Given the description of an element on the screen output the (x, y) to click on. 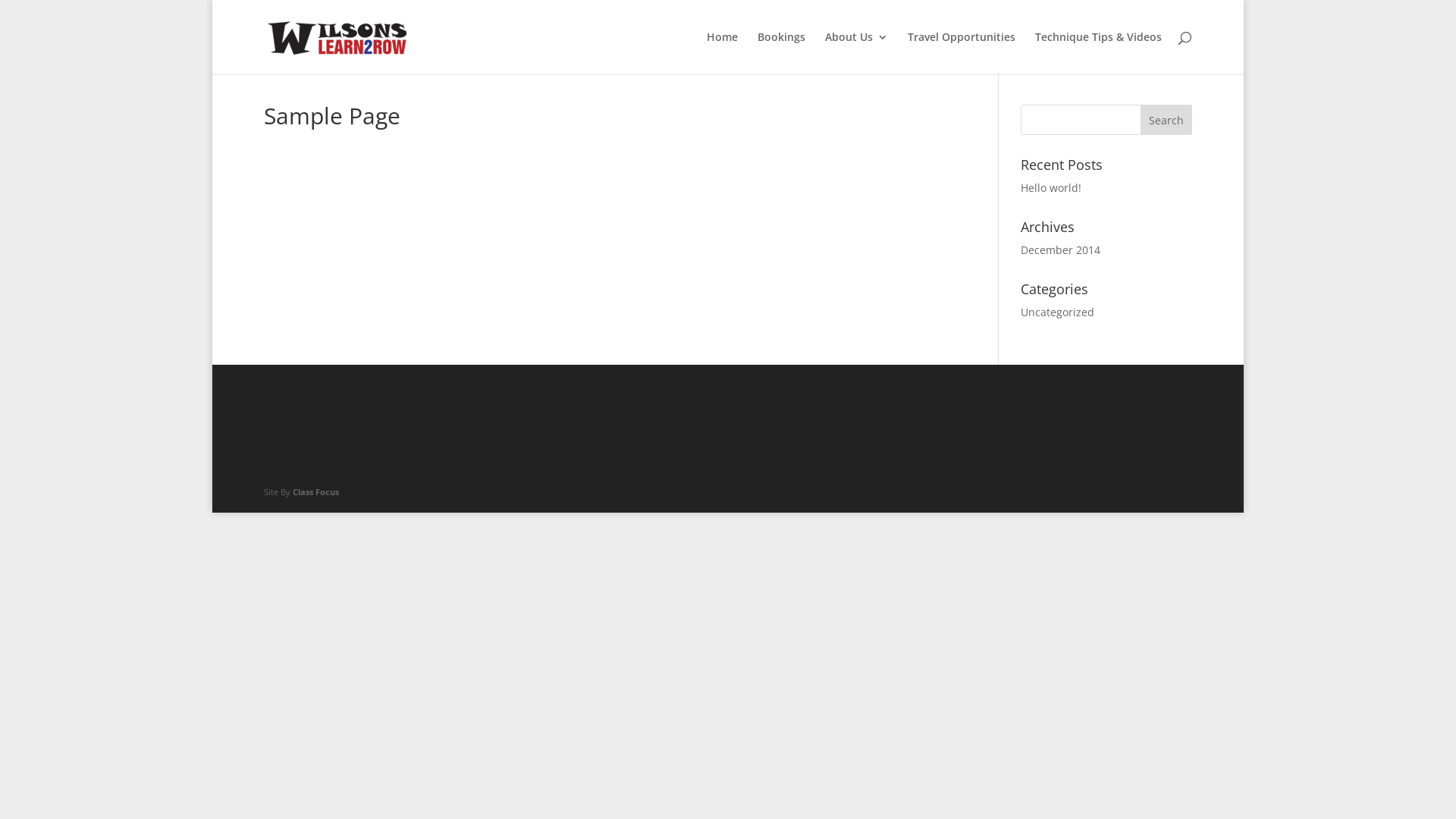
About Us Element type: text (856, 52)
Class Focus Element type: text (315, 491)
Search Element type: text (1166, 119)
December 2014 Element type: text (1060, 249)
Technique Tips & Videos Element type: text (1098, 52)
Hello world! Element type: text (1050, 187)
Uncategorized Element type: text (1057, 311)
Home Element type: text (721, 52)
Travel Opportunities Element type: text (961, 52)
Bookings Element type: text (781, 52)
